Given the description of an element on the screen output the (x, y) to click on. 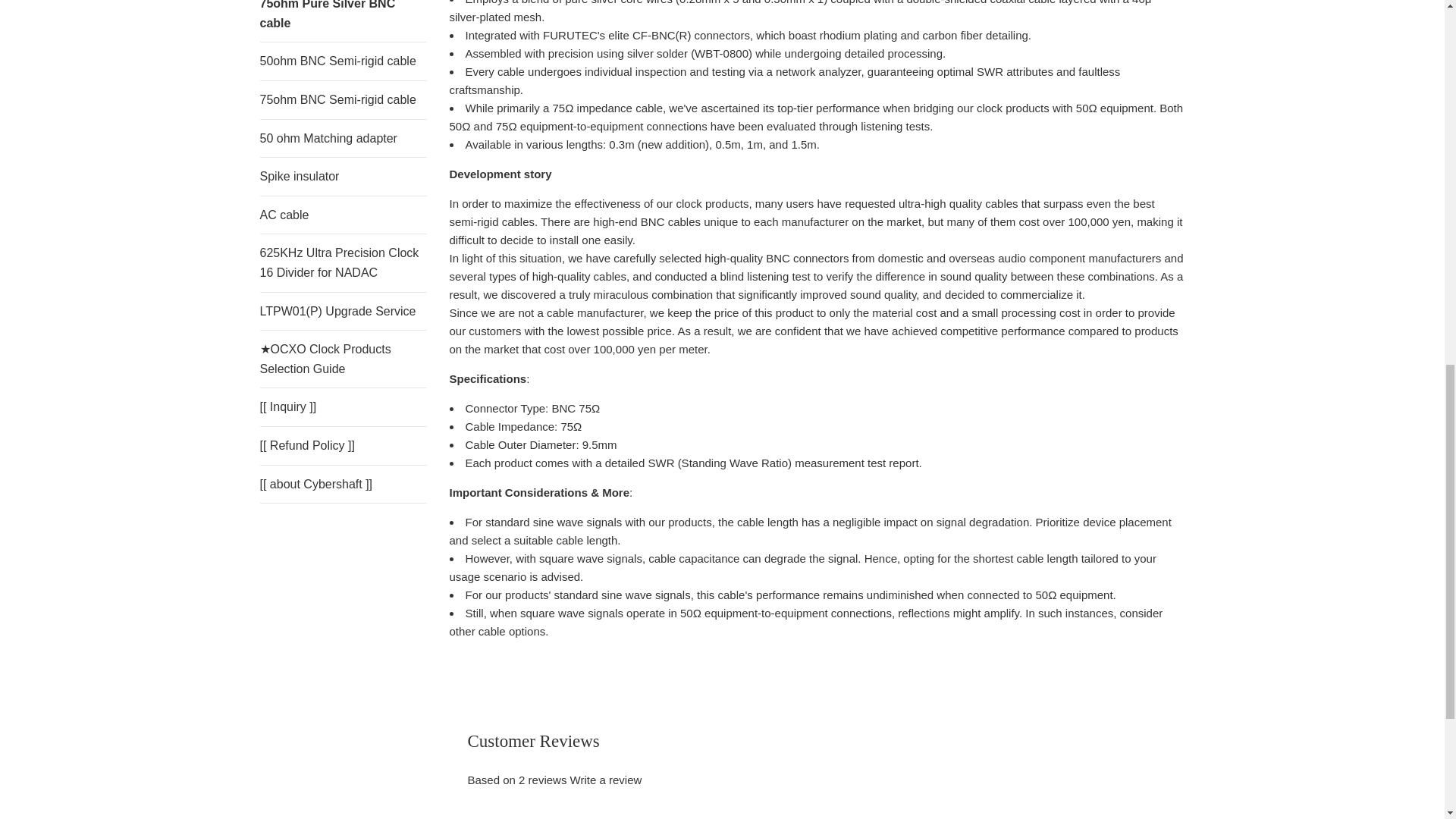
50 ohm Matching adapter (342, 138)
AC cable (342, 215)
50ohm BNC Semi-rigid cable (342, 61)
75ohm BNC Semi-rigid cable (342, 99)
75ohm Pure Silver BNC cable (342, 20)
625KHz Ultra Precision Clock 16 Divider for NADAC (342, 262)
Spike insulator (342, 176)
